Given the description of an element on the screen output the (x, y) to click on. 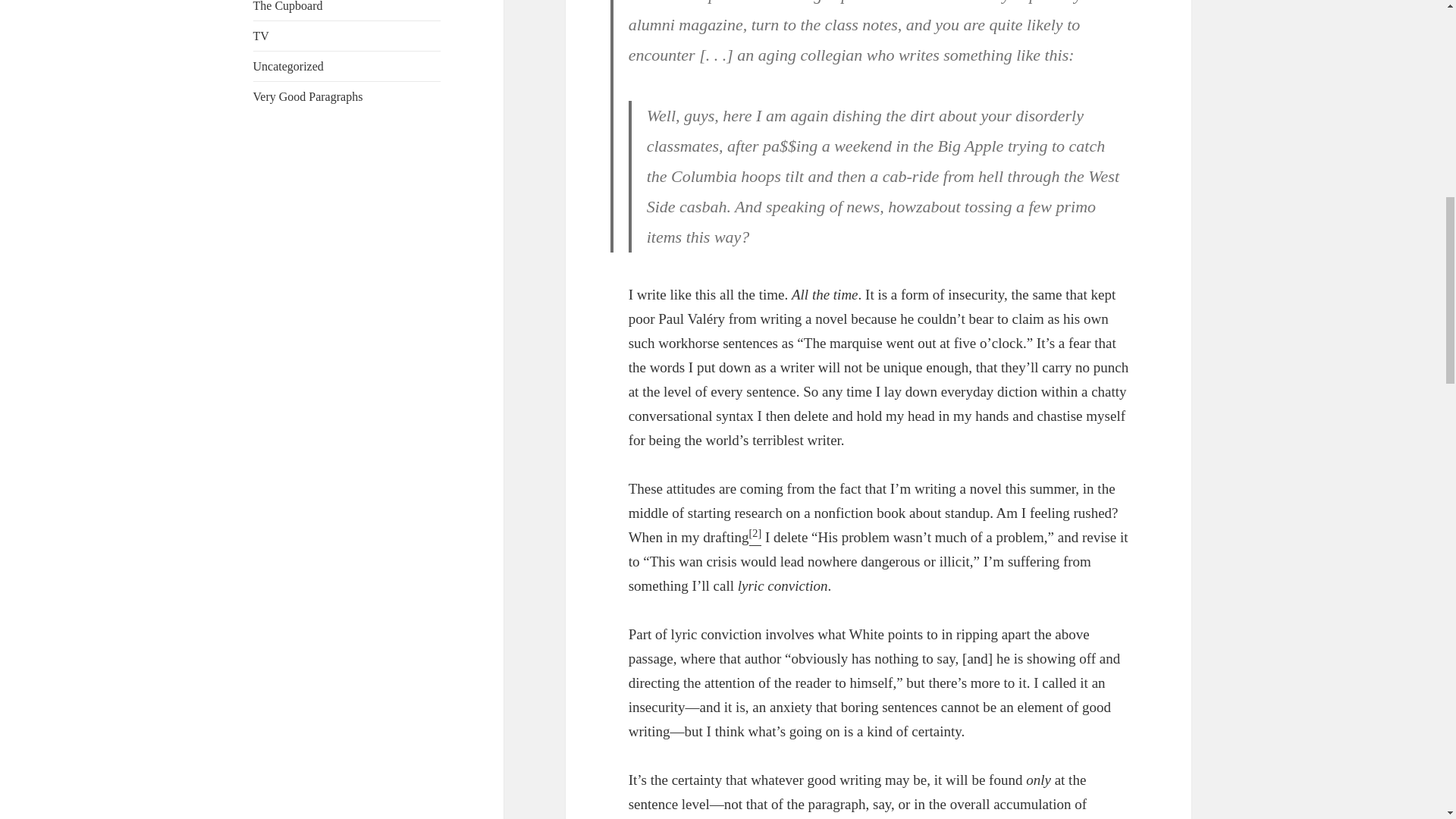
The Cupboard (288, 6)
Very Good Paragraphs (307, 96)
Uncategorized (288, 65)
TV (261, 35)
